Given the description of an element on the screen output the (x, y) to click on. 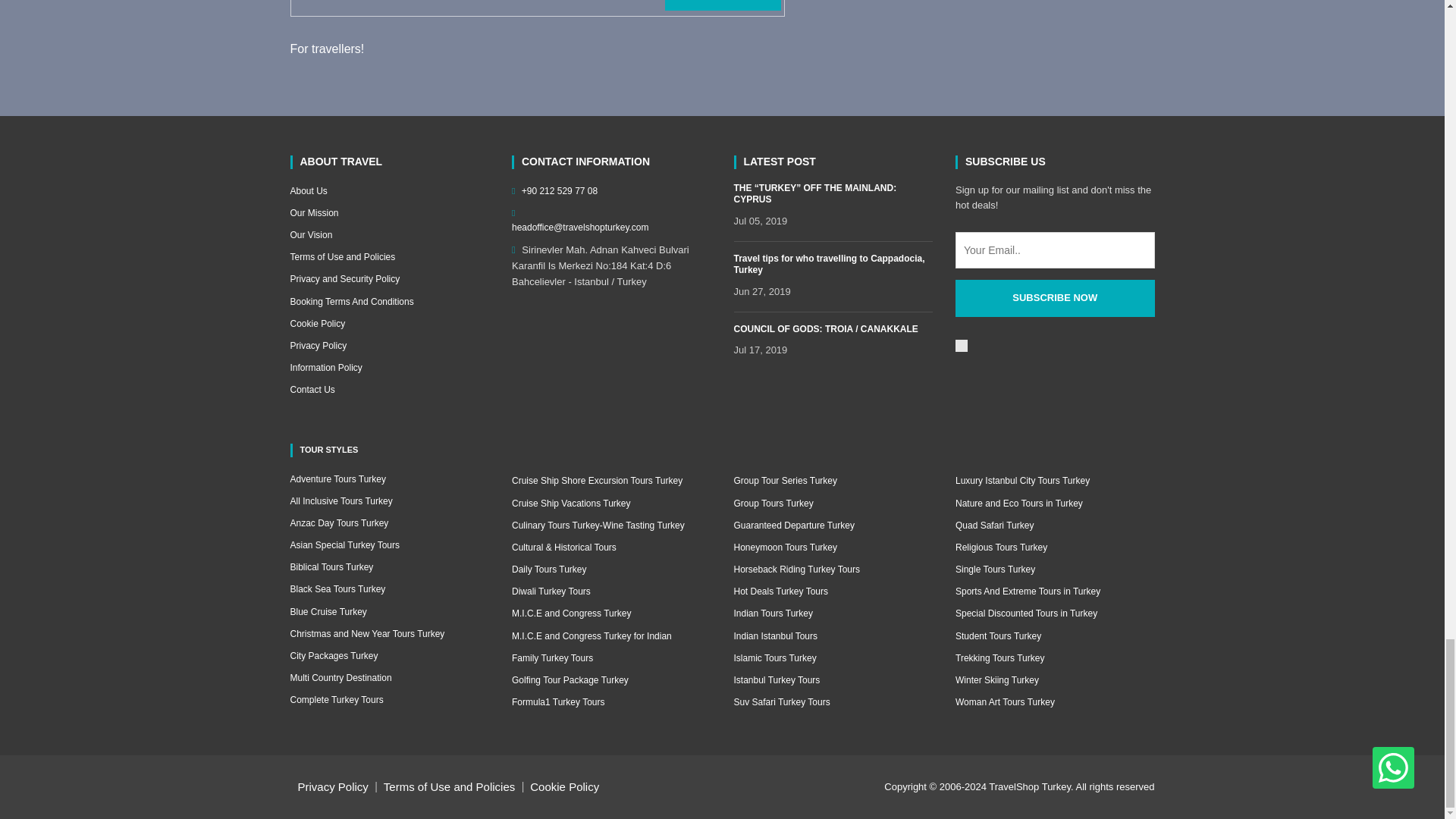
SUBSCRIBE NOW (1054, 298)
SIGN UP NOW! (722, 5)
Our Mission (389, 213)
Booking Terms And Conditions (389, 301)
About Us (389, 191)
Our Vision (389, 235)
Terms of Use and Policies (389, 257)
Contact Us (389, 390)
Cookie Policy (389, 323)
Privacy Policy (389, 345)
SIGN UP NOW! (722, 5)
Privacy and Security Policy (389, 278)
Information Policy (389, 368)
